Given the description of an element on the screen output the (x, y) to click on. 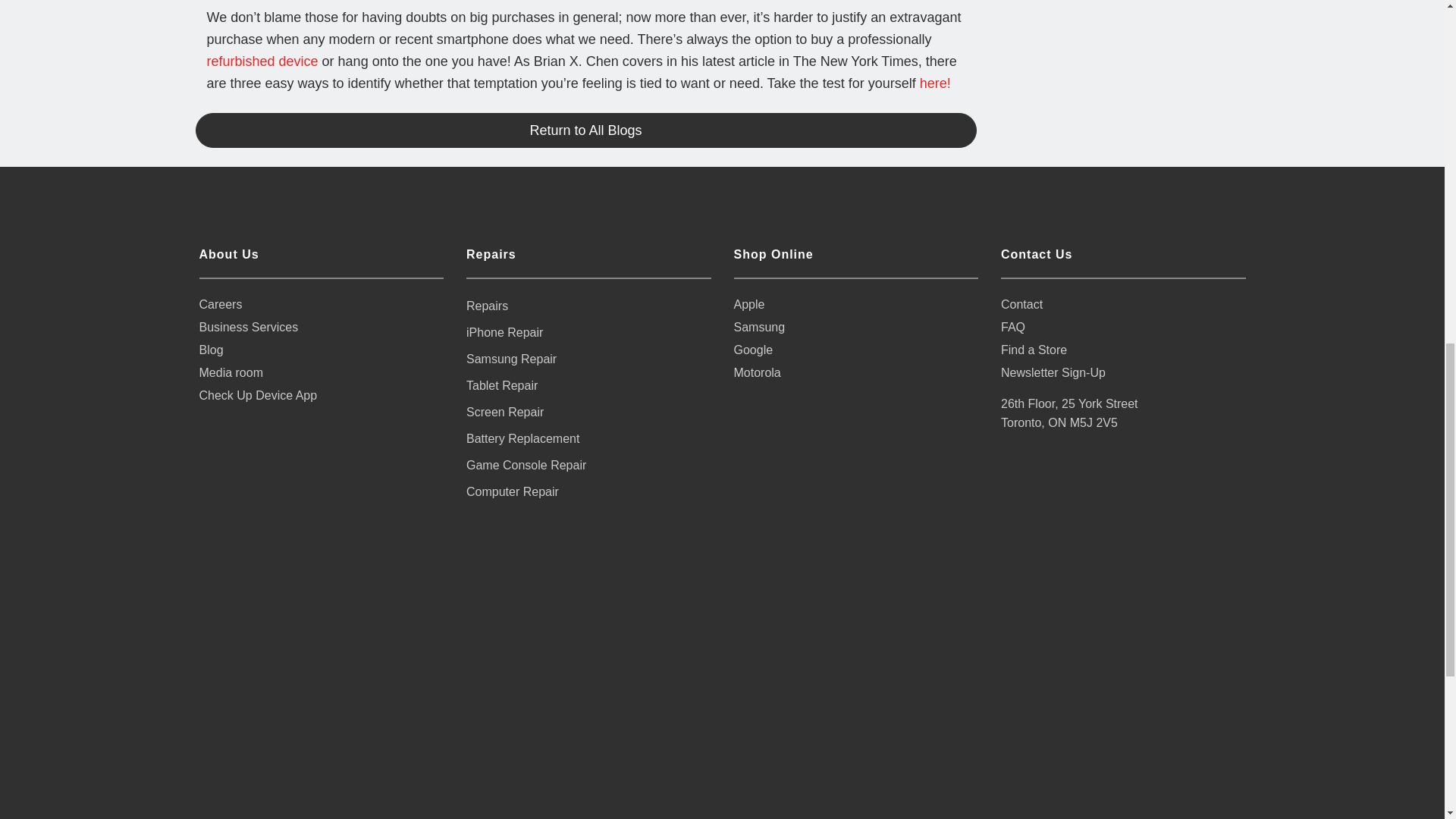
refurbished device (261, 61)
Return to All Blogs (585, 130)
here! (935, 83)
